Given the description of an element on the screen output the (x, y) to click on. 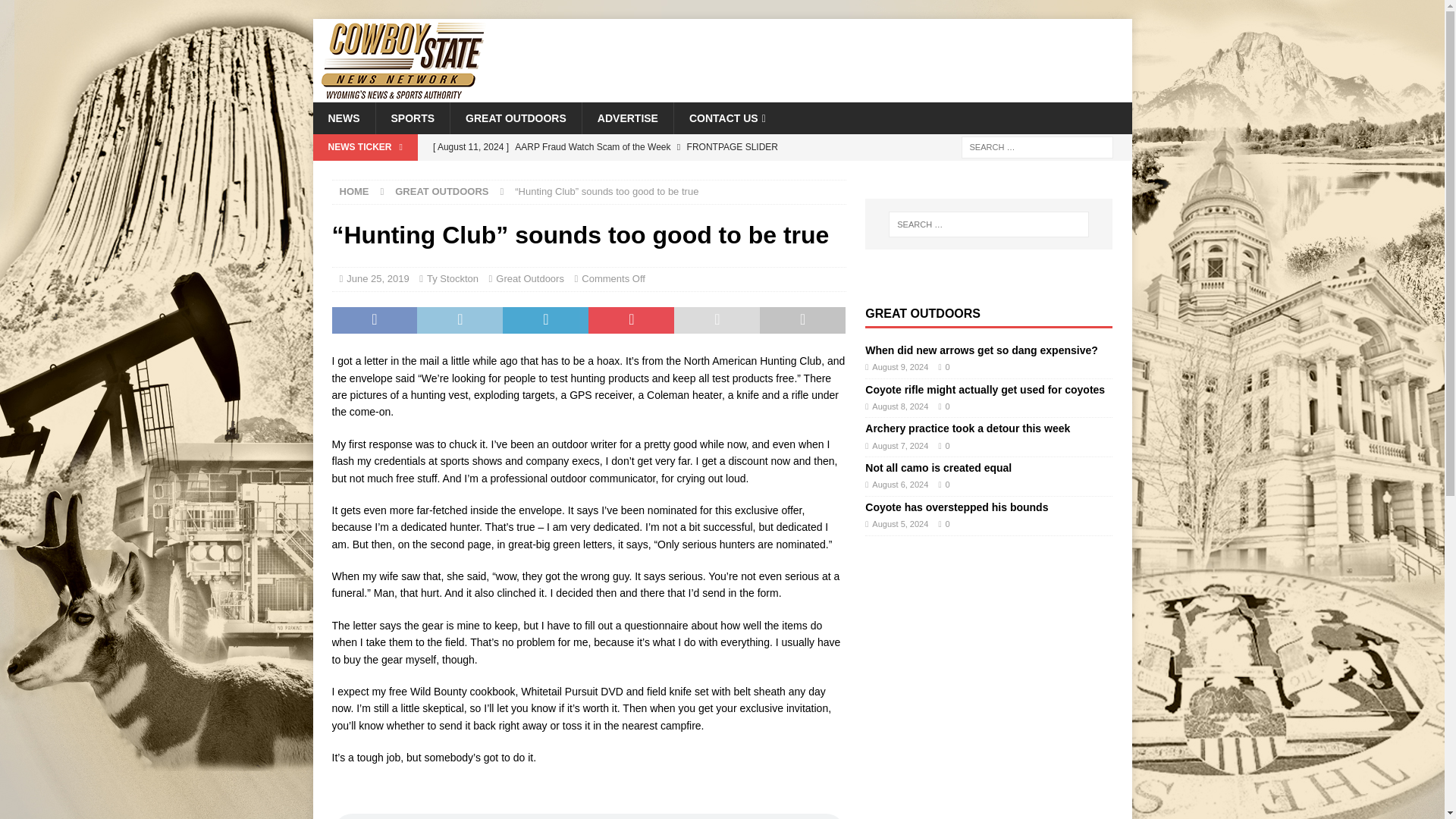
NEWS (343, 118)
SPORTS (411, 118)
ADVERTISE (626, 118)
CONTACT US (726, 118)
Great Outdoors (530, 278)
AARP Fraud Watch Scam of the Week (634, 146)
Yellowstone Visitation Statistics for July 2024 (634, 172)
GREAT OUTDOORS (440, 191)
GREAT OUTDOORS (514, 118)
Ty Stockton (452, 278)
